Given the description of an element on the screen output the (x, y) to click on. 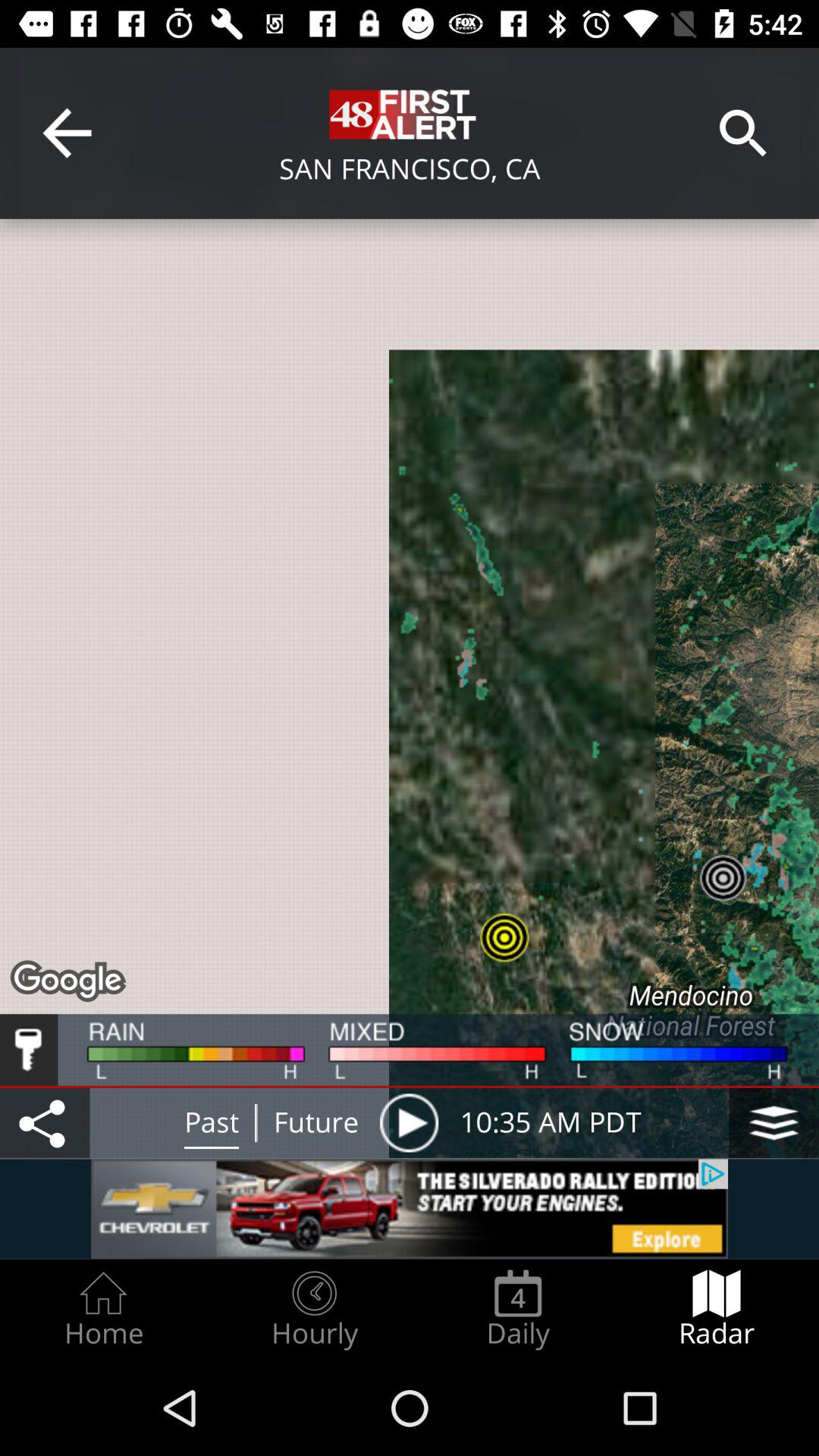
swipe to hourly (314, 1309)
